Given the description of an element on the screen output the (x, y) to click on. 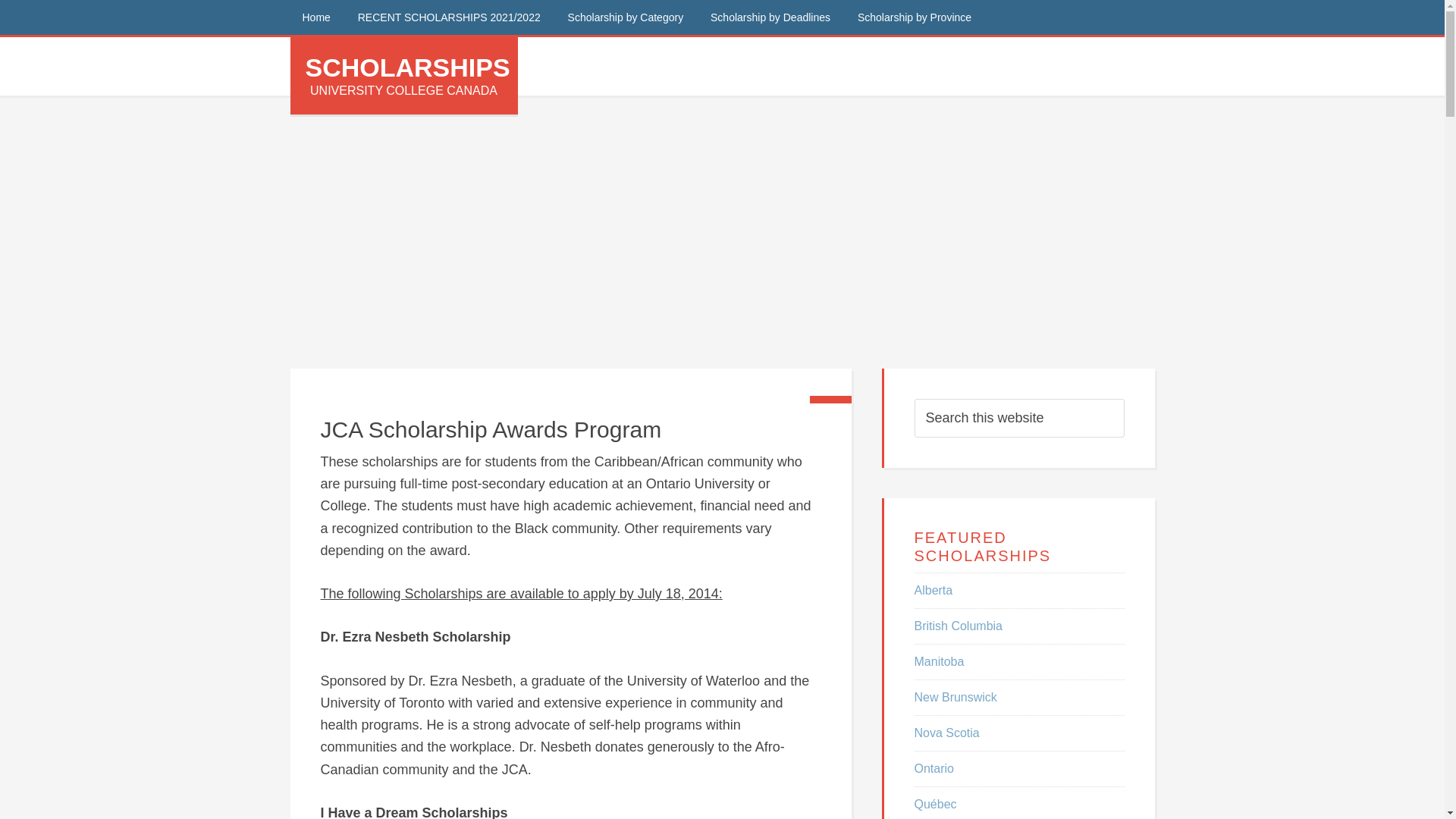
Home (315, 17)
Scholarship by Category (625, 17)
Scholarship by Deadlines (770, 17)
Scholarship by Province (914, 17)
SCHOLARSHIPS (406, 67)
